Given the description of an element on the screen output the (x, y) to click on. 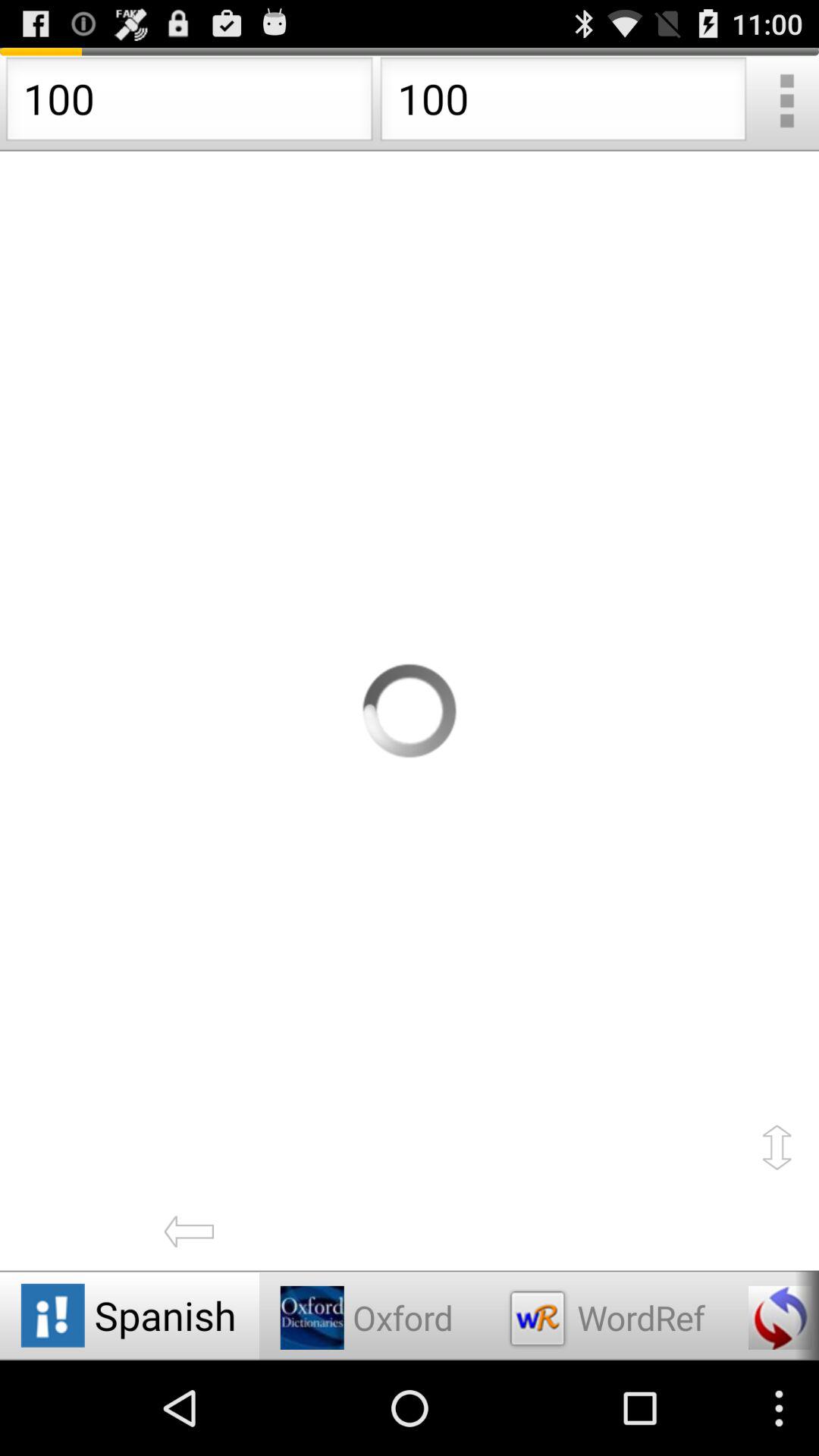
loting button (409, 710)
